Given the description of an element on the screen output the (x, y) to click on. 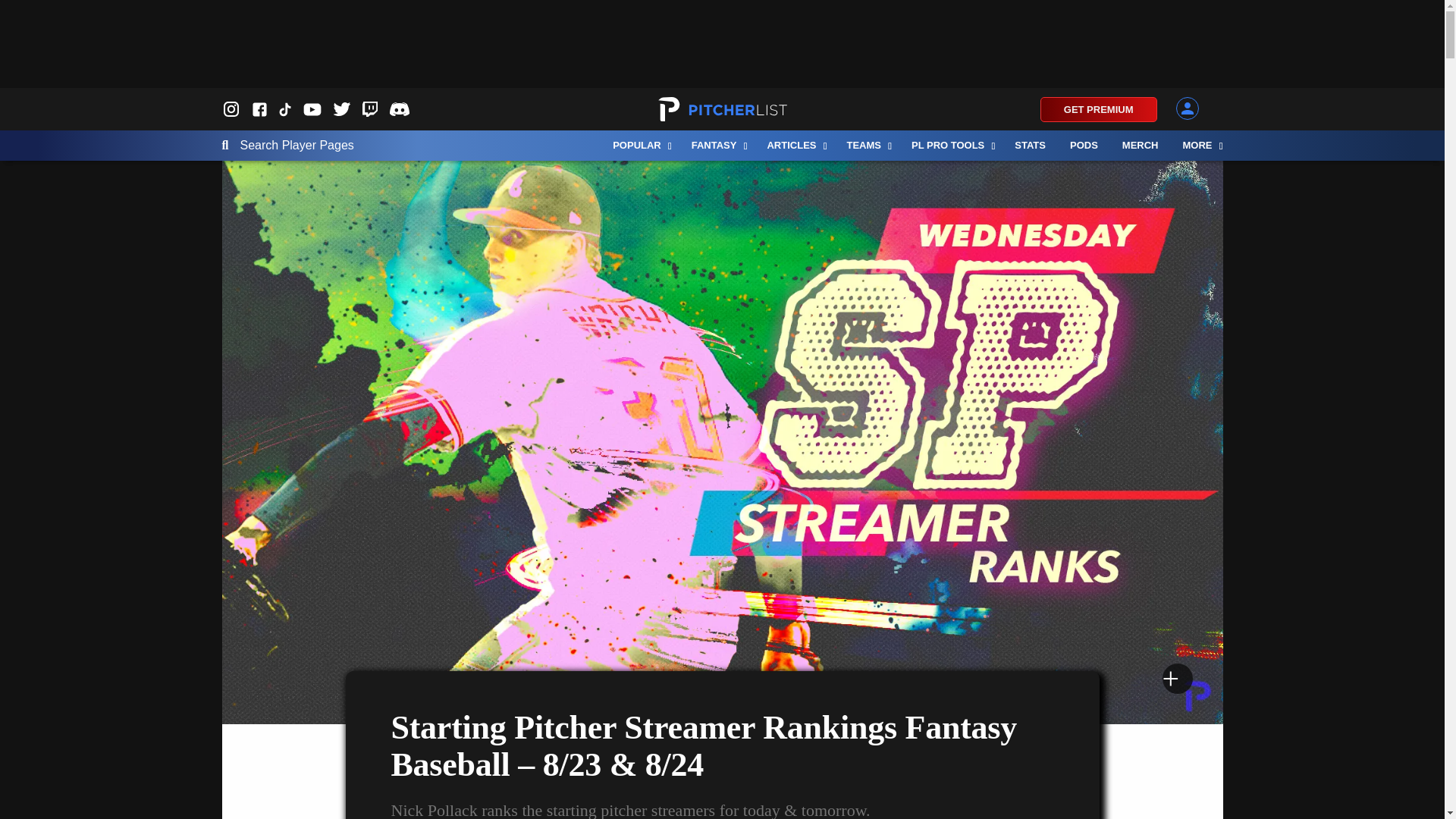
FANTASY (717, 145)
GET PREMIUM (1099, 109)
